Given the description of an element on the screen output the (x, y) to click on. 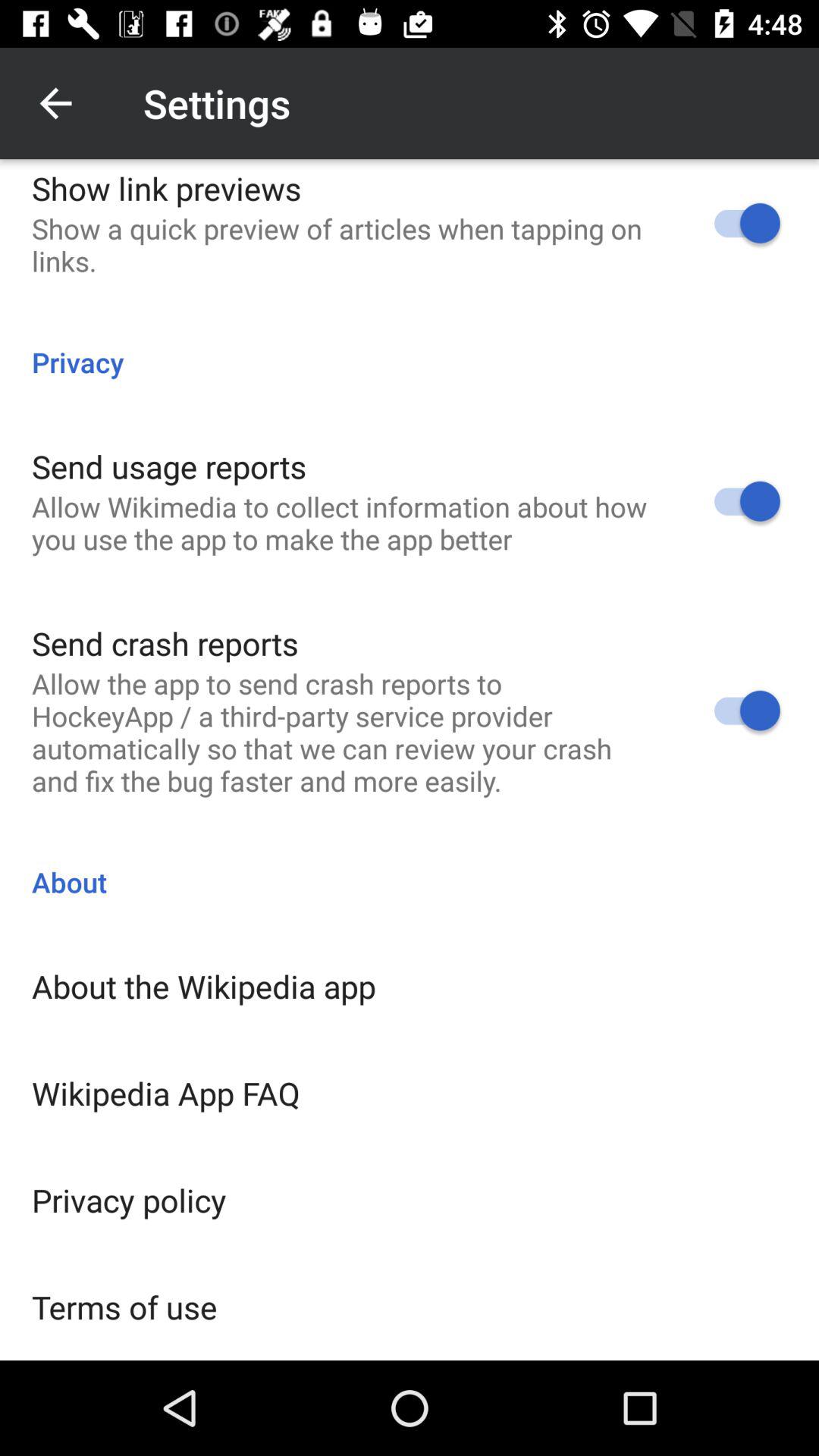
tap the item next to settings icon (55, 103)
